Given the description of an element on the screen output the (x, y) to click on. 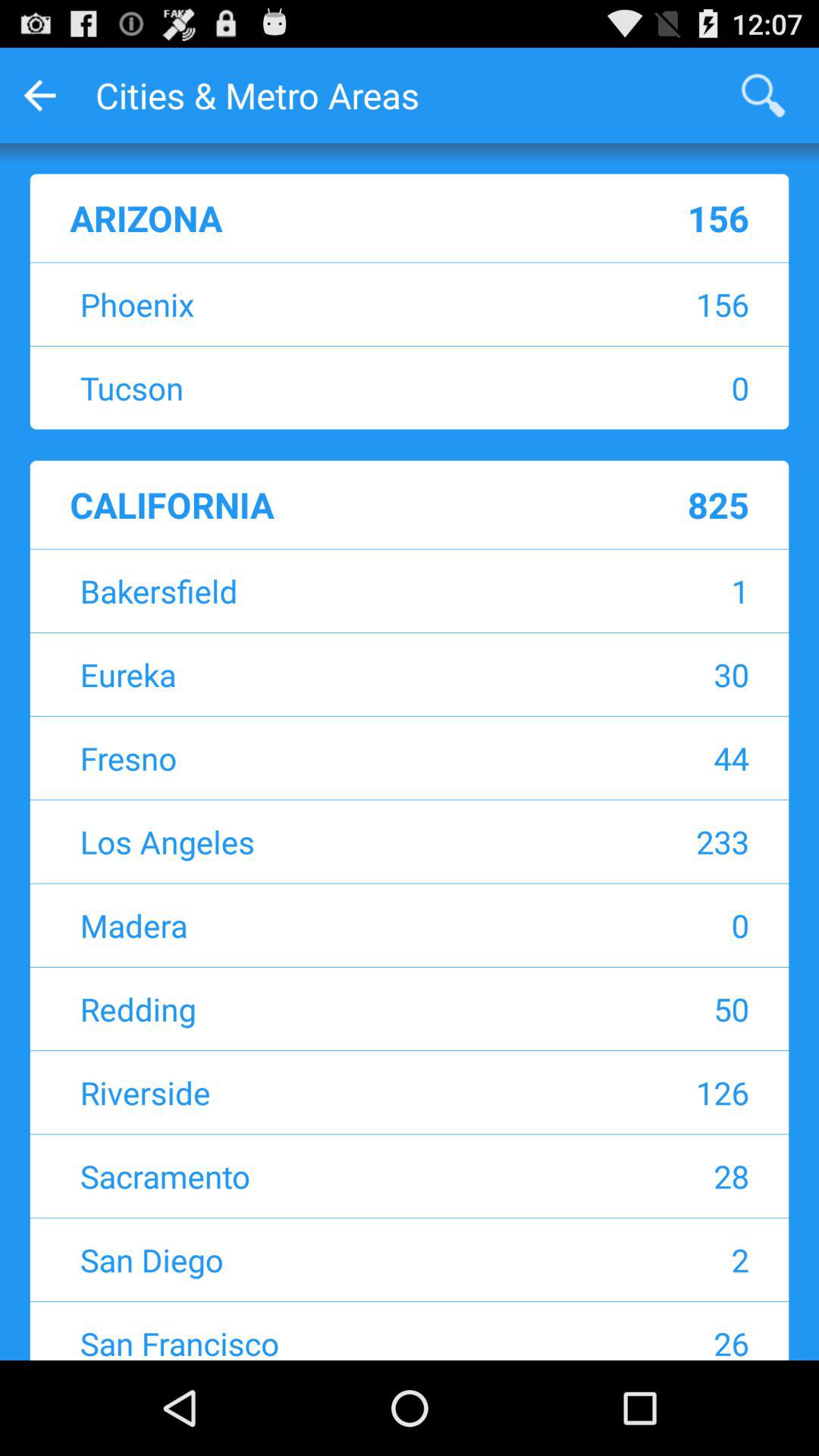
turn on eureka icon (314, 674)
